Given the description of an element on the screen output the (x, y) to click on. 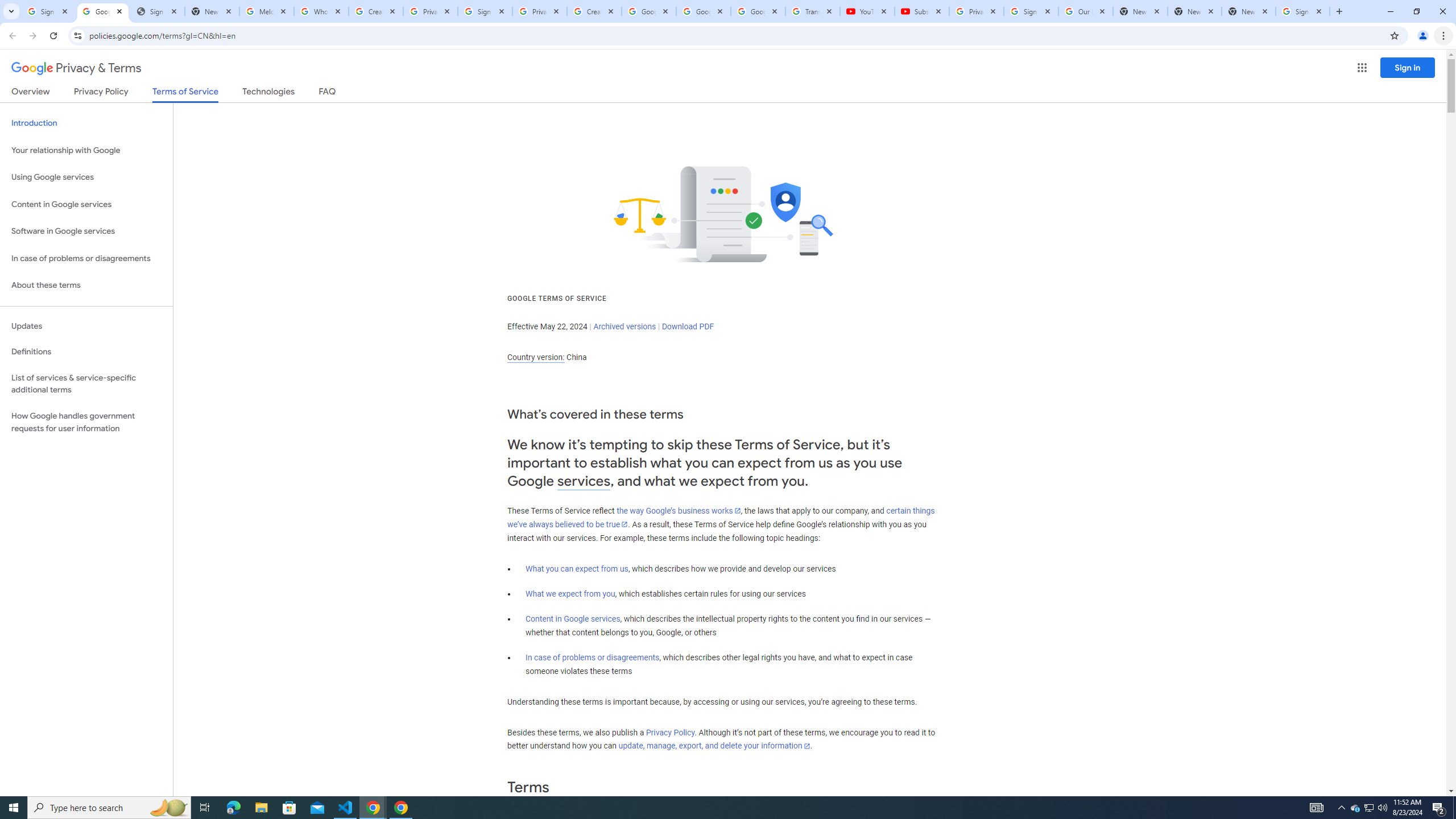
Search tabs (10, 11)
Your relationship with Google (86, 150)
System (6, 6)
Minimize (1390, 11)
Forward (32, 35)
Sign in - Google Accounts (1303, 11)
Subscriptions - YouTube (921, 11)
Download PDF (687, 326)
Privacy & Terms (76, 68)
